Given the description of an element on the screen output the (x, y) to click on. 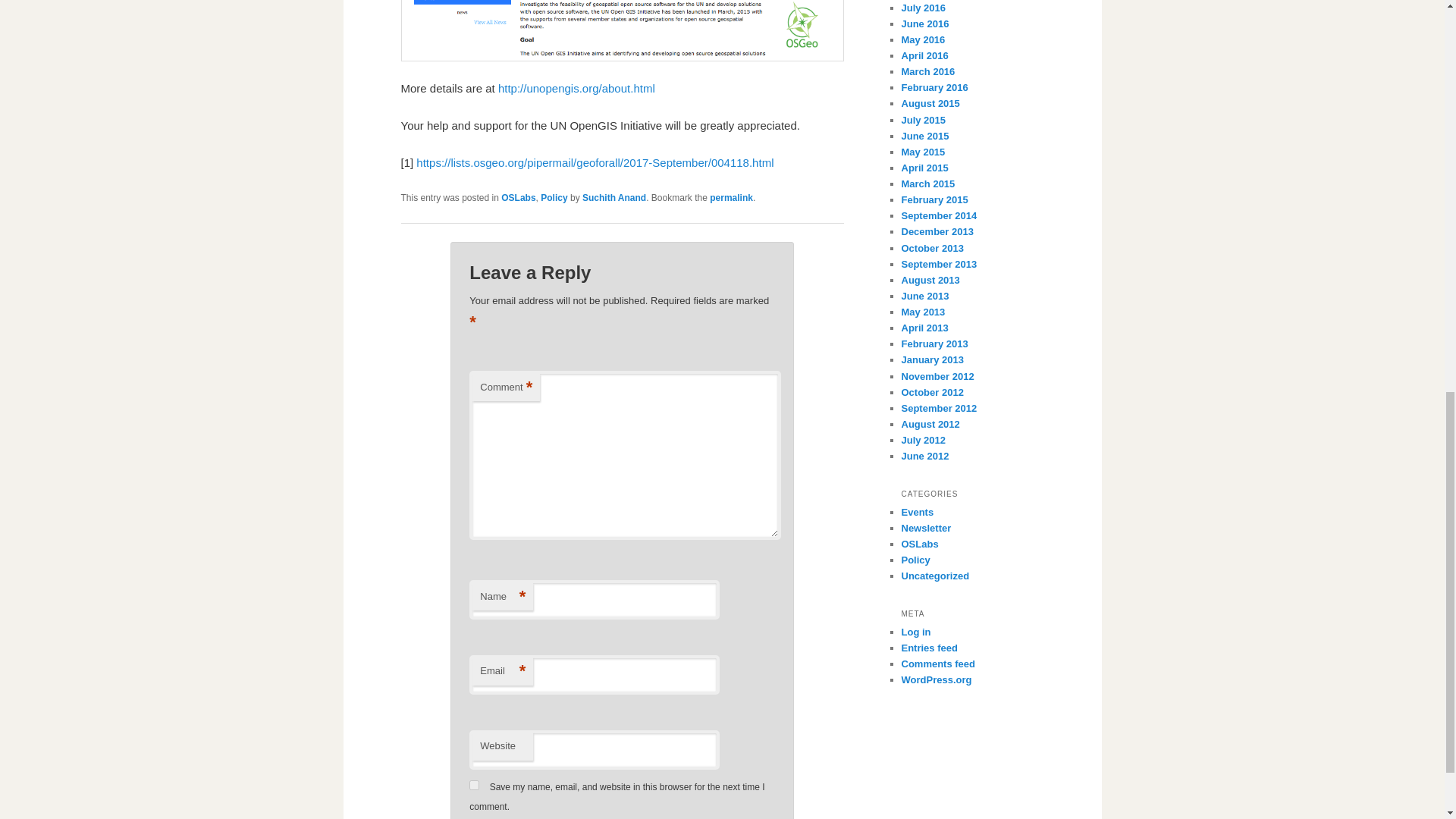
permalink (731, 197)
Policy (553, 197)
yes (473, 784)
Suchith Anand (614, 197)
Permalink to Call for tutors for the UN Open GIS Initiative (731, 197)
OSLabs (517, 197)
